Given the description of an element on the screen output the (x, y) to click on. 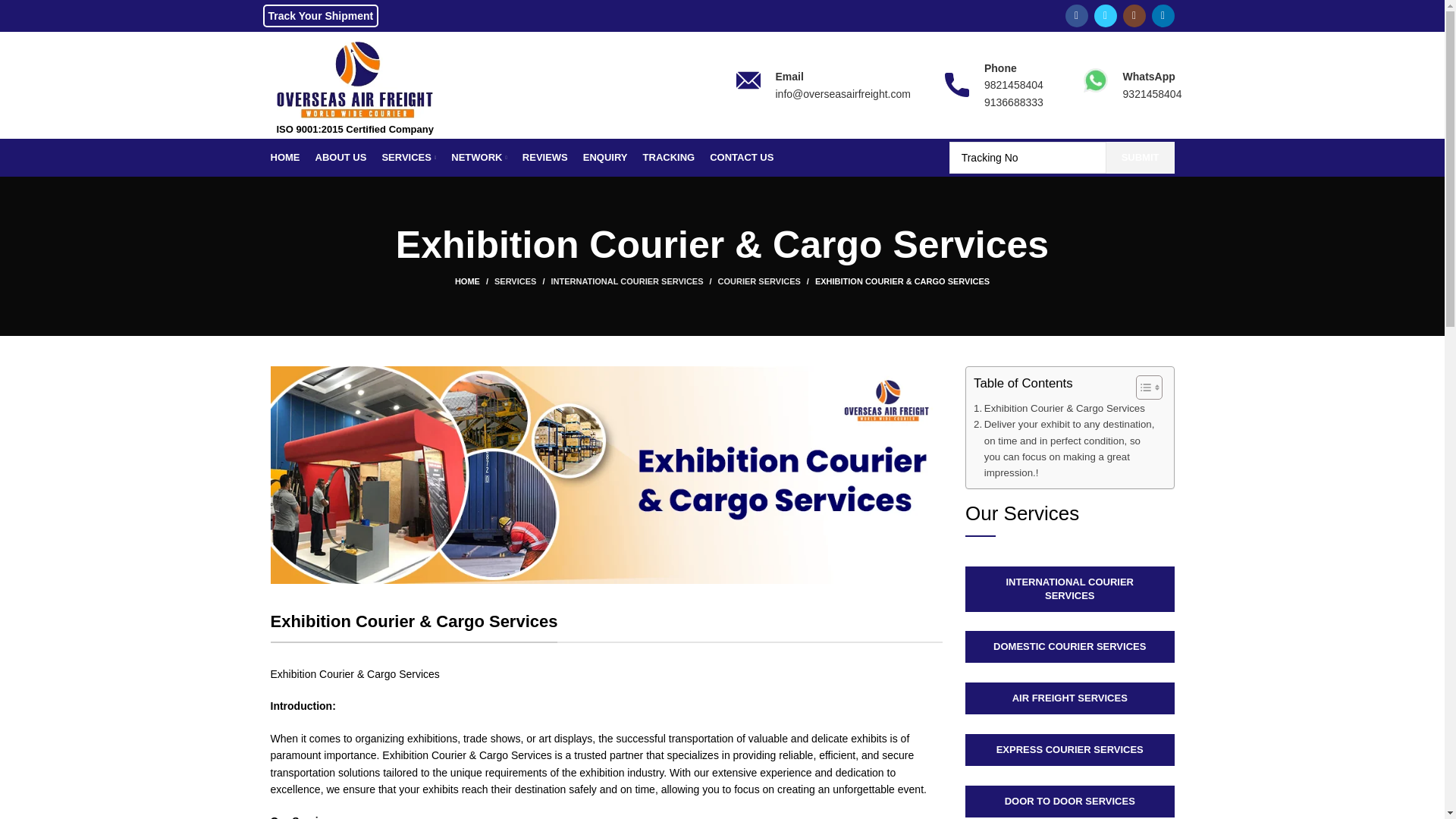
Express Courier Services (1069, 749)
call (956, 84)
Domestic Courier Services (1069, 646)
Door to Door Services (1069, 801)
9136688333 (1013, 102)
Air Freight Services (1069, 698)
9321458404 (1152, 93)
whatsapp (1095, 79)
test (1069, 588)
